Given the description of an element on the screen output the (x, y) to click on. 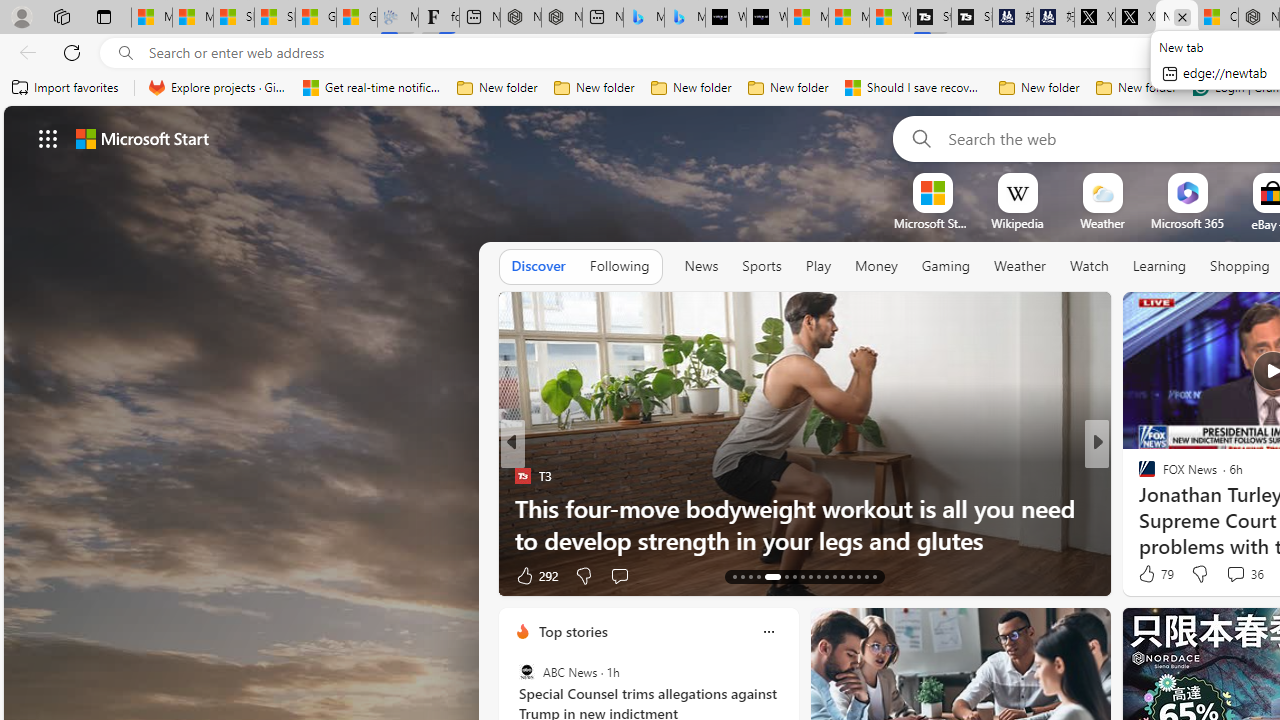
Gaming (945, 267)
Following (619, 265)
View comments 312 Comment (1234, 575)
439 Like (1151, 574)
AutomationID: tab-14 (742, 576)
Microsoft start (142, 138)
Money (875, 265)
AutomationID: tab-37 (850, 576)
4 Like (1145, 574)
Play (818, 267)
Play (817, 265)
Axios (1138, 475)
Weather (1019, 267)
42 Like (1149, 574)
